Given the description of an element on the screen output the (x, y) to click on. 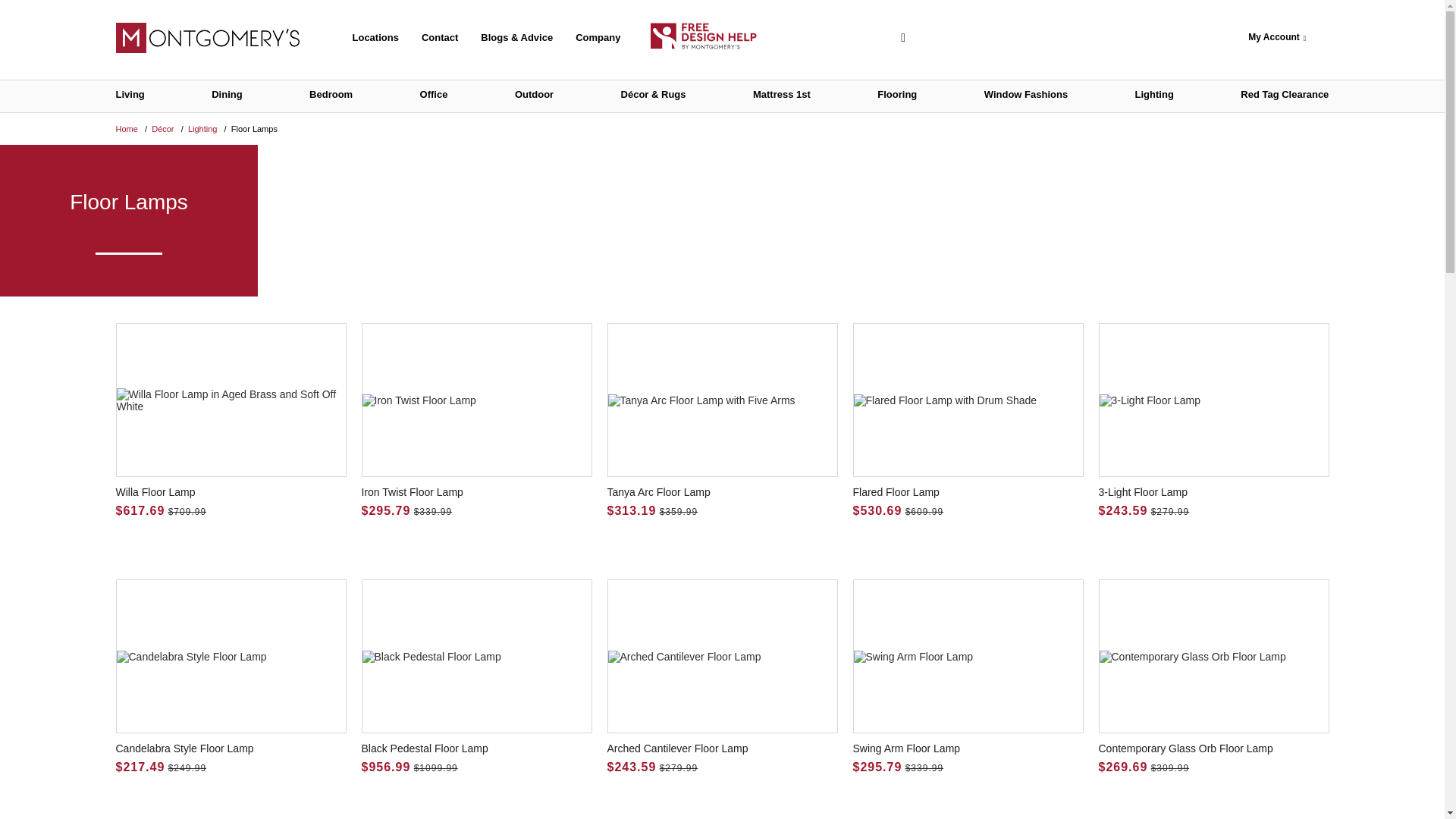
Living (129, 96)
Tanya Arc Floor Lamp with Five Arms (722, 420)
Arched Cantilever Floor Lamp (722, 676)
Willa Floor Lamp in Aged Brass and Soft Off White (230, 420)
Flared Floor Lamp with Drum Shade (967, 420)
Swing Arm Floor Lamp (967, 676)
3-Light Floor Lamp (1212, 420)
My Account (1276, 37)
Contemporary Glass Orb Floor Lamp (1212, 676)
Black Pedestal Floor Lamp (476, 676)
Company (597, 37)
Candelabra Style Floor Lamp (230, 676)
Contact (440, 37)
Iron Twist Floor Lamp (476, 420)
Locations (374, 37)
